Given the description of an element on the screen output the (x, y) to click on. 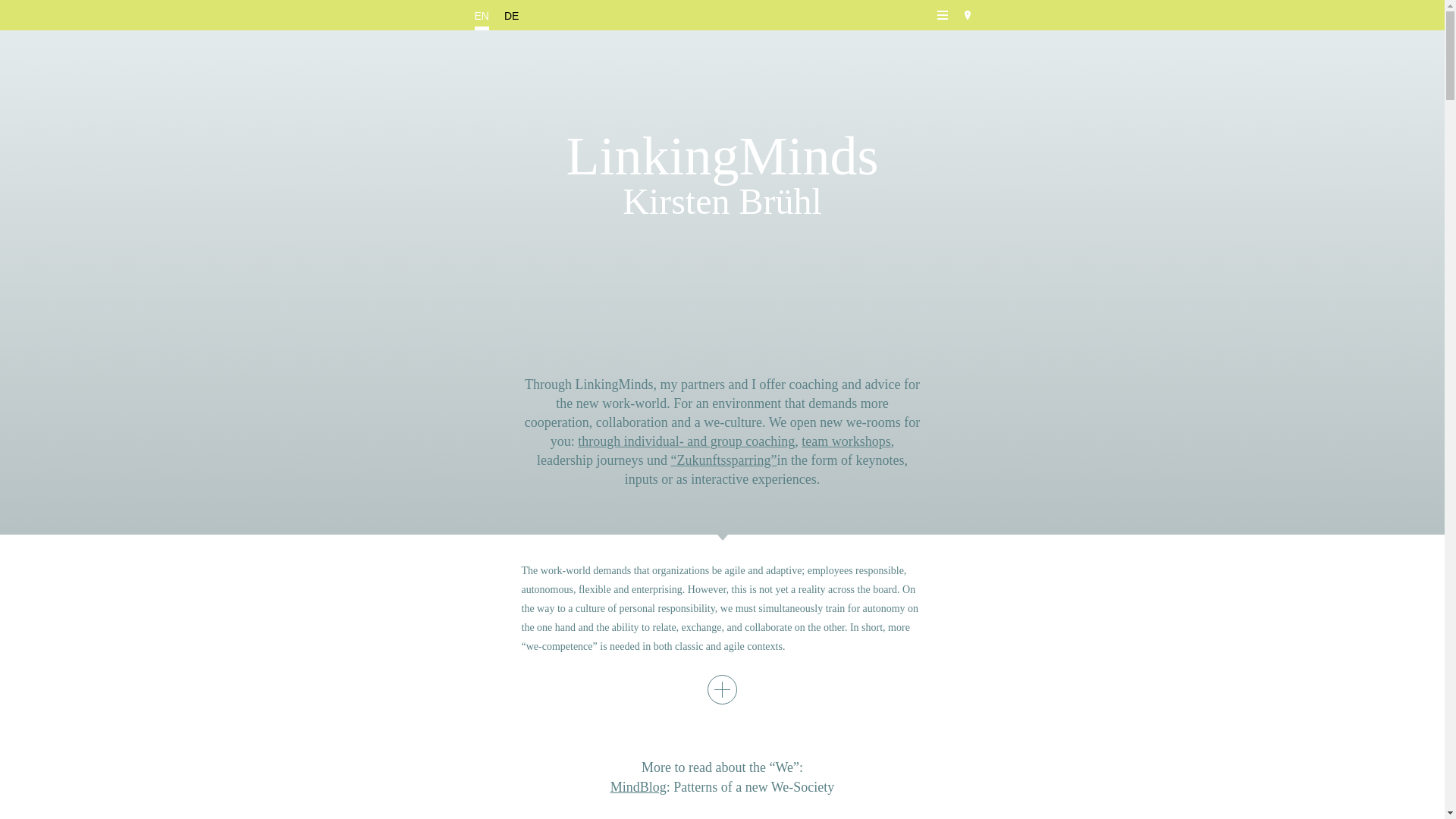
through one-on-ones (686, 441)
Zukunftssparring. (724, 459)
EN (481, 15)
through individual- and group coaching (686, 441)
MindBlog (638, 786)
team workshops (845, 441)
Team-Workshops, (845, 441)
DE (510, 15)
